Given the description of an element on the screen output the (x, y) to click on. 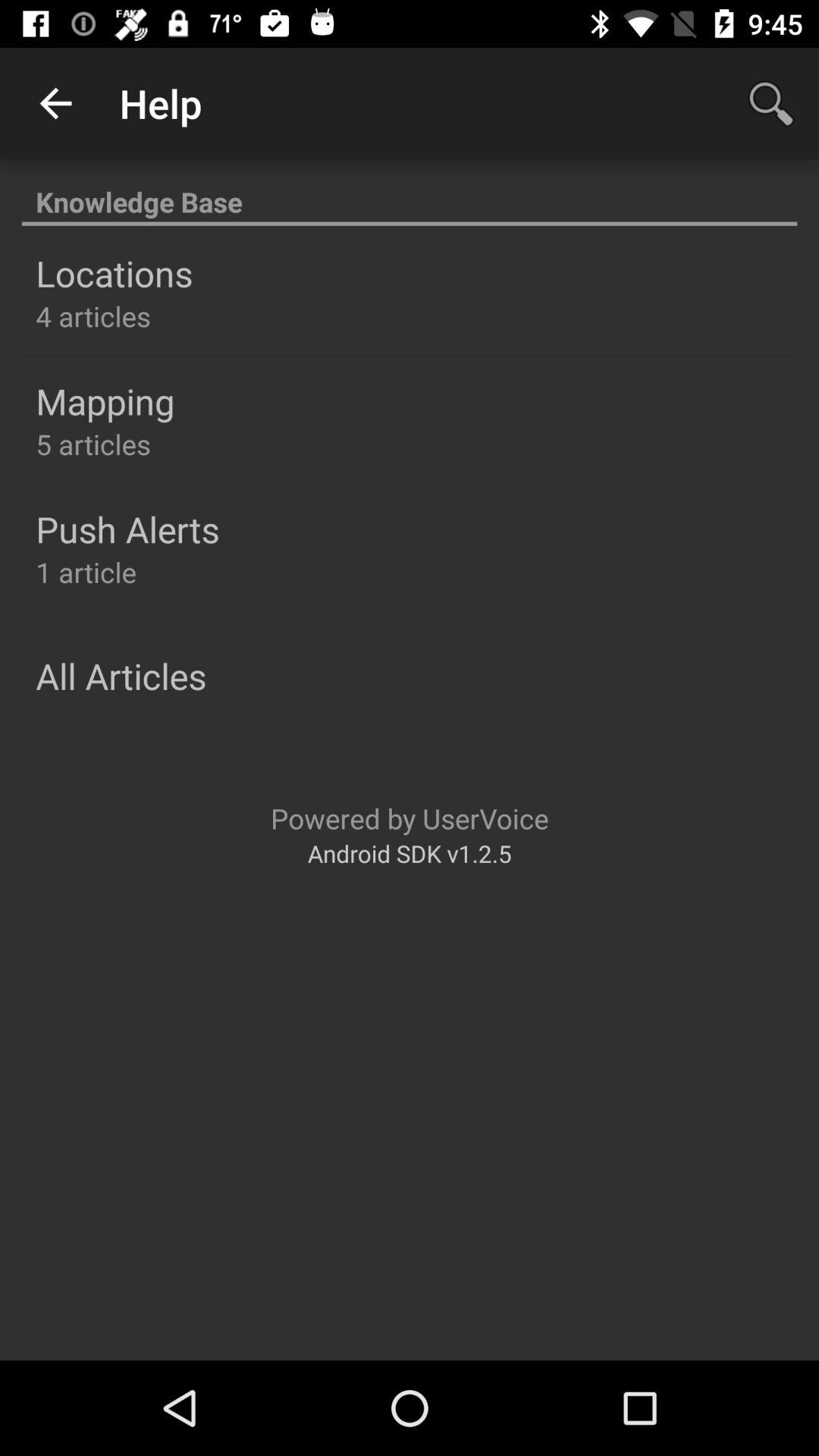
press the icon above locations item (409, 193)
